Given the description of an element on the screen output the (x, y) to click on. 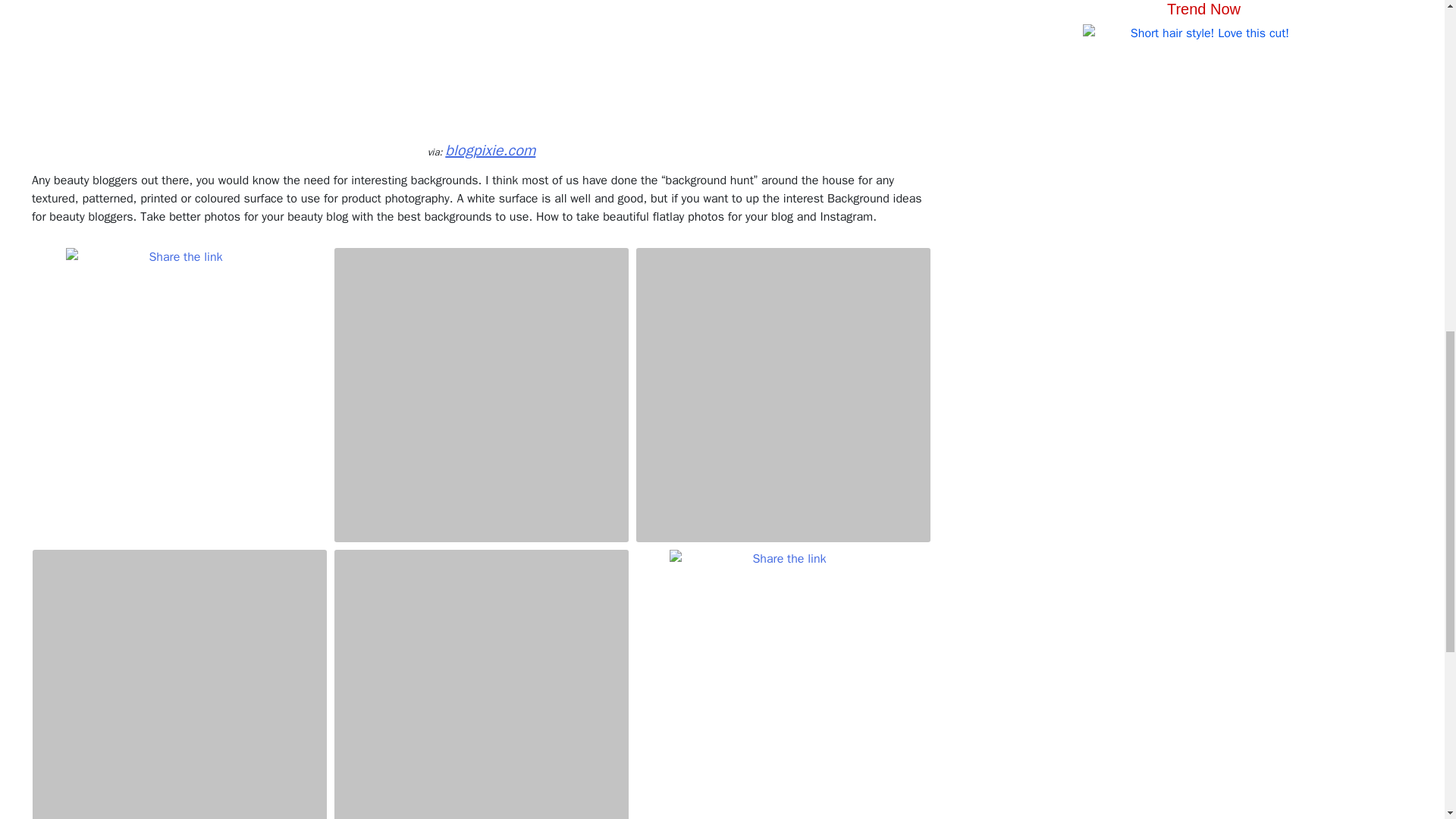
blogpixie.com (490, 149)
Beauty Blog Photography - Background Ideas for your Photos (481, 395)
My Favorite Photo and Video Gear for Blogging and Youtube (783, 395)
Home - Rachel Prochnow (783, 663)
